Given the description of an element on the screen output the (x, y) to click on. 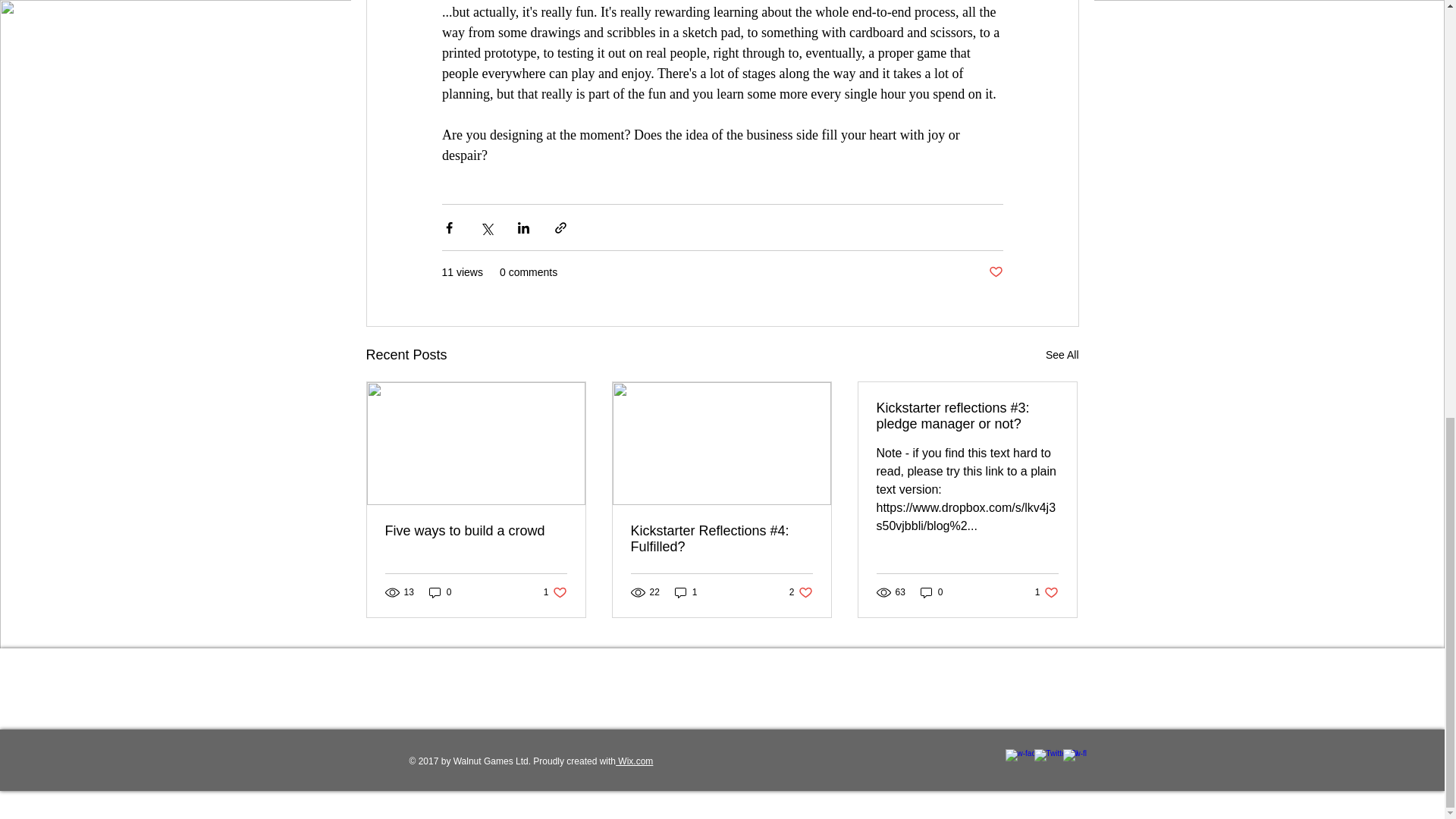
Five ways to build a crowd (476, 530)
Wix.com (555, 592)
Post not marked as liked (1046, 592)
0 (633, 760)
0 (995, 272)
1 (931, 592)
See All (440, 592)
